Given the description of an element on the screen output the (x, y) to click on. 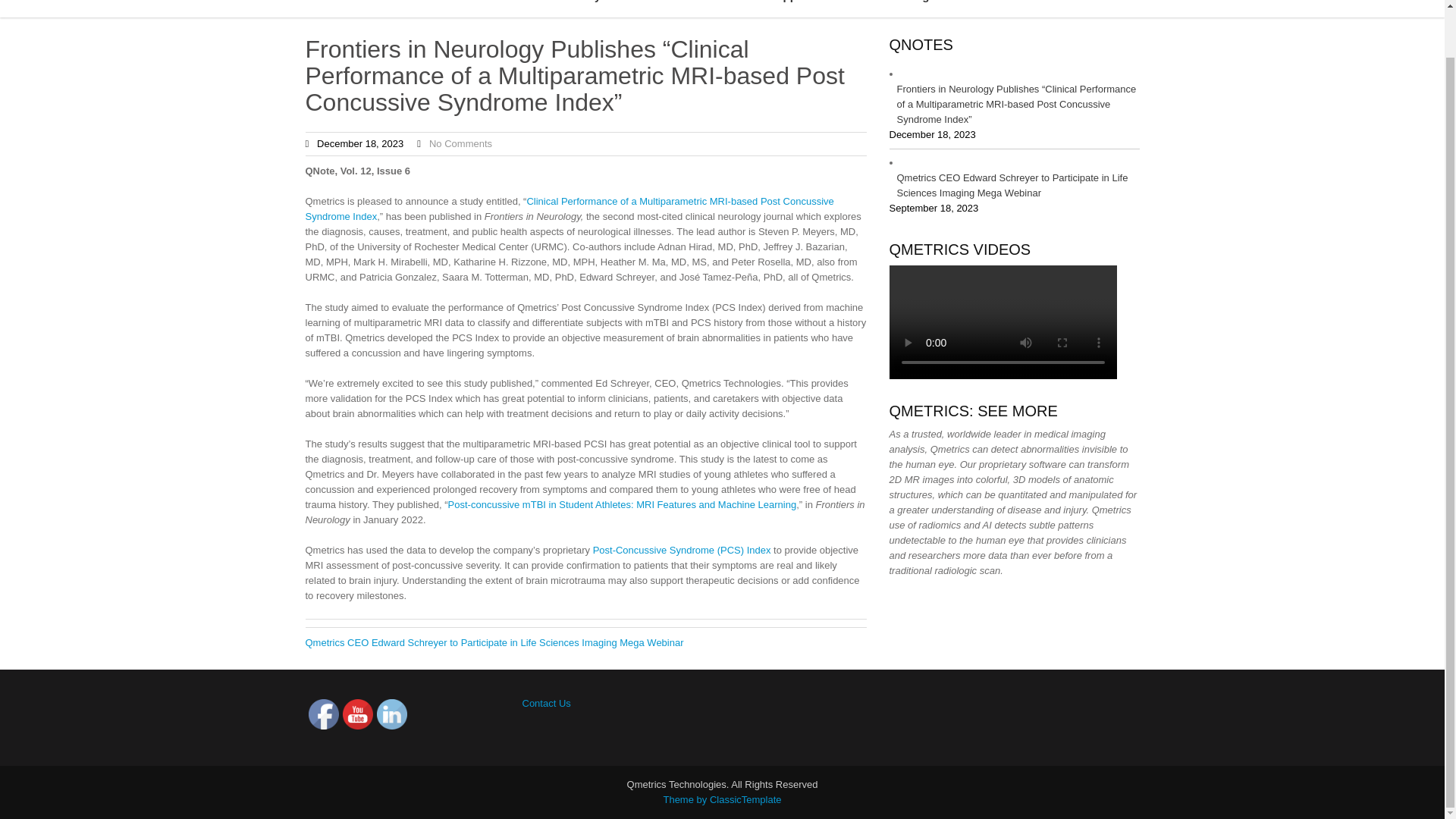
Clinical Trial Support (755, 8)
No Comments (460, 143)
Theme by ClassicTemplate (721, 799)
Kuvia3D (984, 8)
Login (923, 8)
Facebook (322, 714)
YouTube (357, 714)
Home (452, 8)
LinkedIn (390, 714)
